Given the description of an element on the screen output the (x, y) to click on. 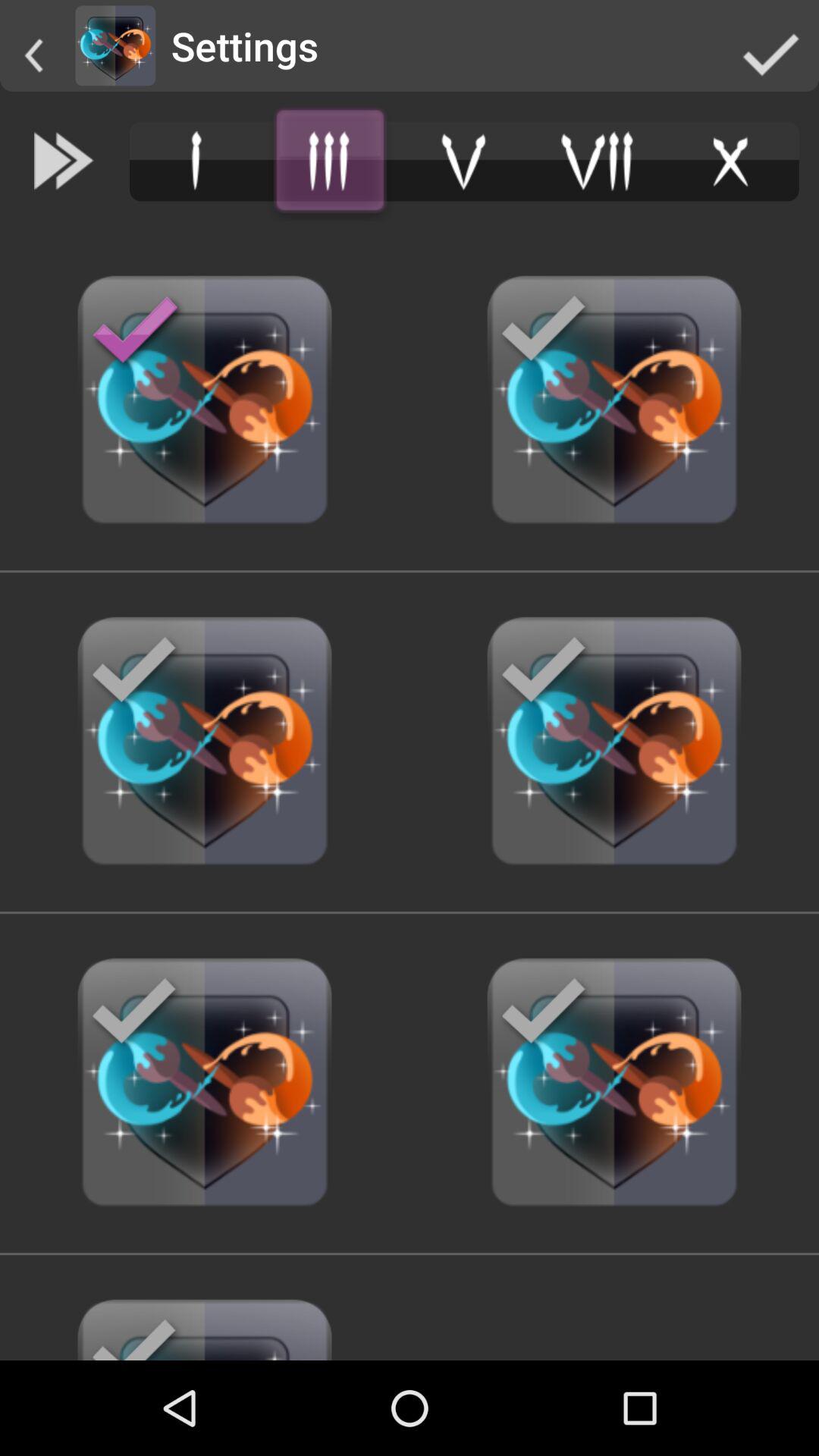
click on the last button which is on the left (204, 1322)
select the last image from the bottom left side of the web page (204, 1083)
the tick mark symbol shown on the second image in the first row (544, 331)
click the button which is at the last but second on the right side of the page (614, 401)
